Given the description of an element on the screen output the (x, y) to click on. 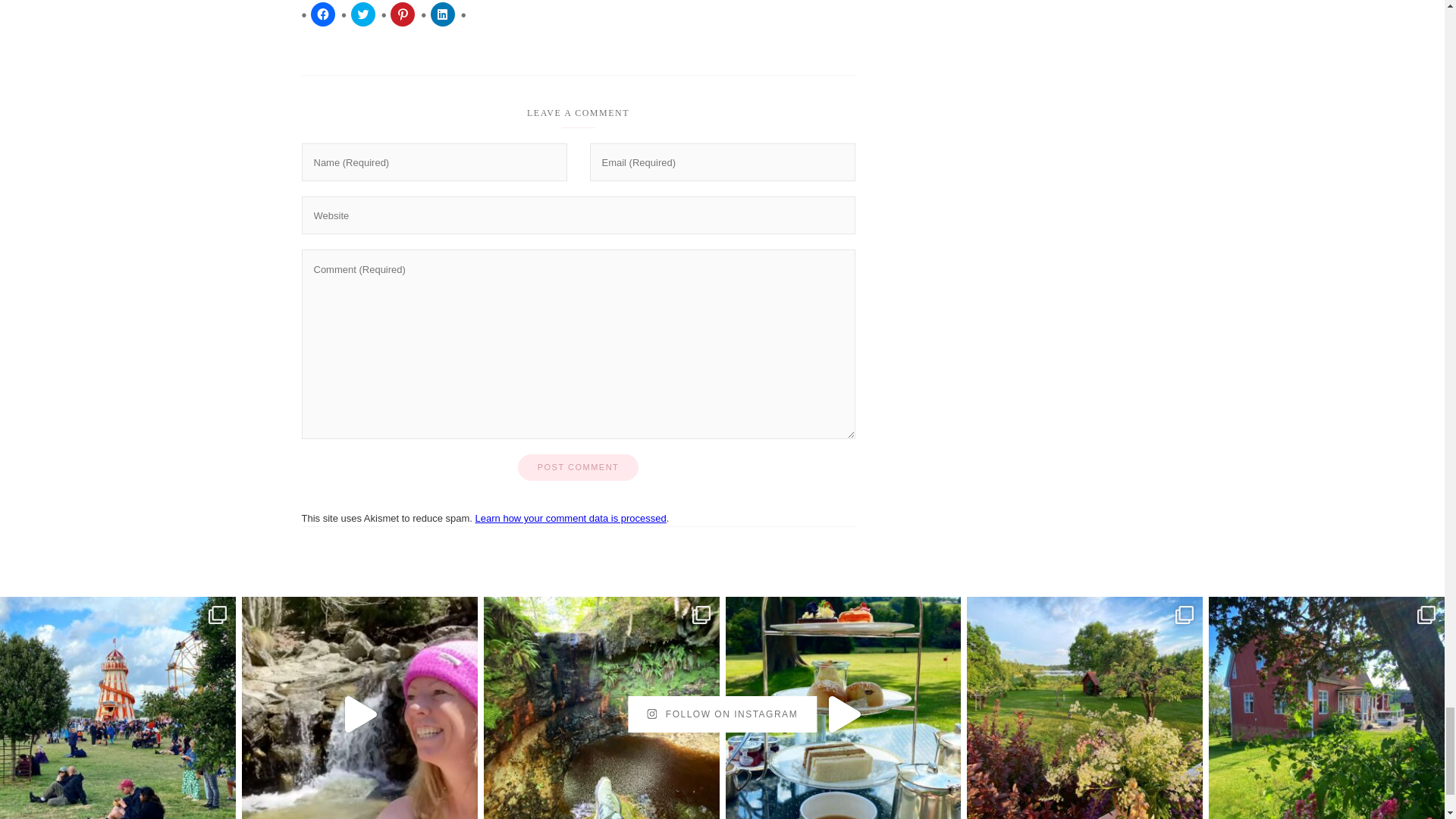
FOLLOW ON INSTAGRAM (721, 714)
Learn how your comment data is processed (571, 518)
Post Comment (578, 467)
Click to share on Pinterest (402, 14)
Click to share on LinkedIn (442, 14)
Post Comment (578, 467)
Click to share on Facebook (322, 14)
Click to share on Twitter (362, 14)
